Given the description of an element on the screen output the (x, y) to click on. 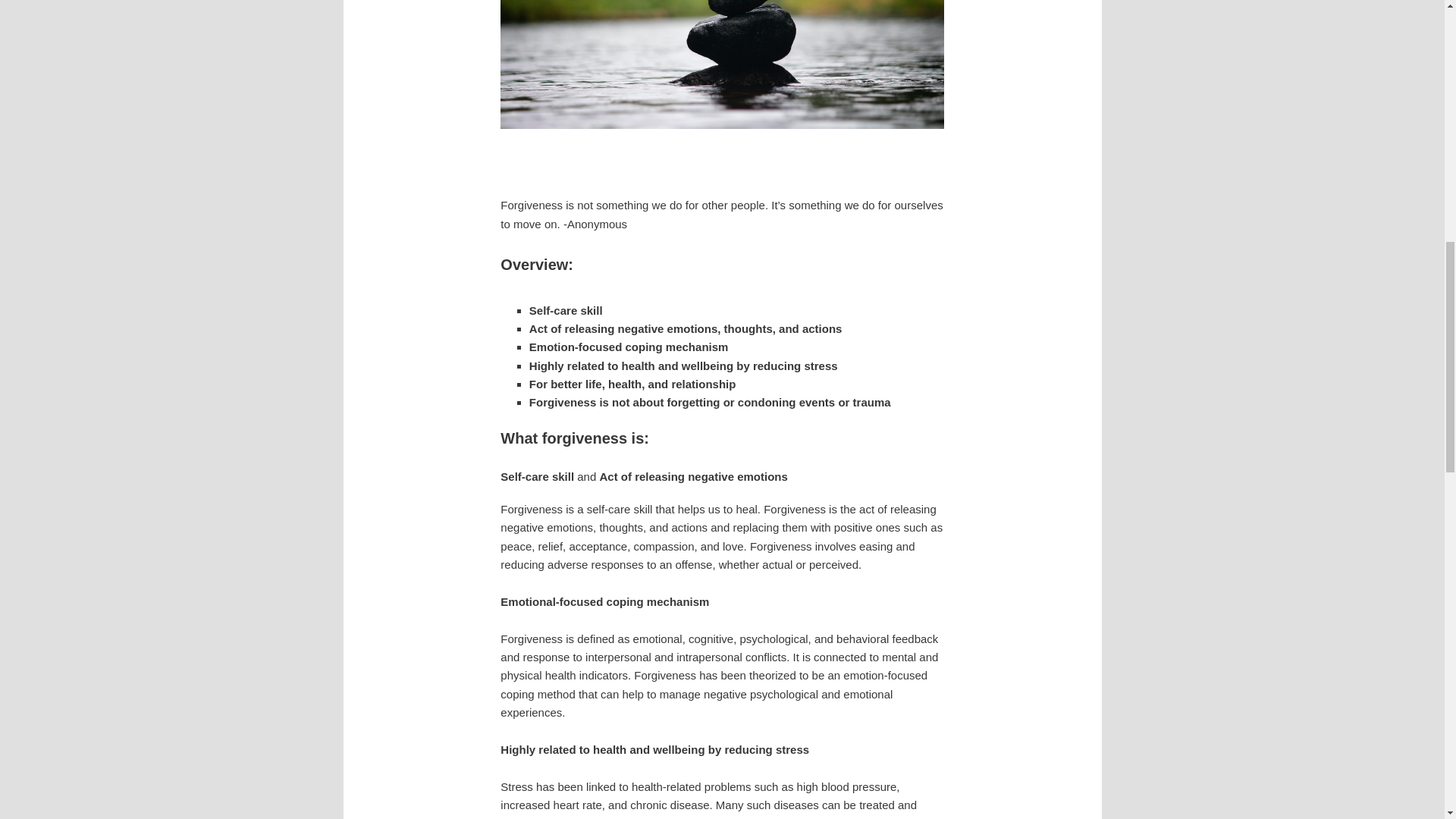
2 (731, 154)
1 (711, 154)
